Given the description of an element on the screen output the (x, y) to click on. 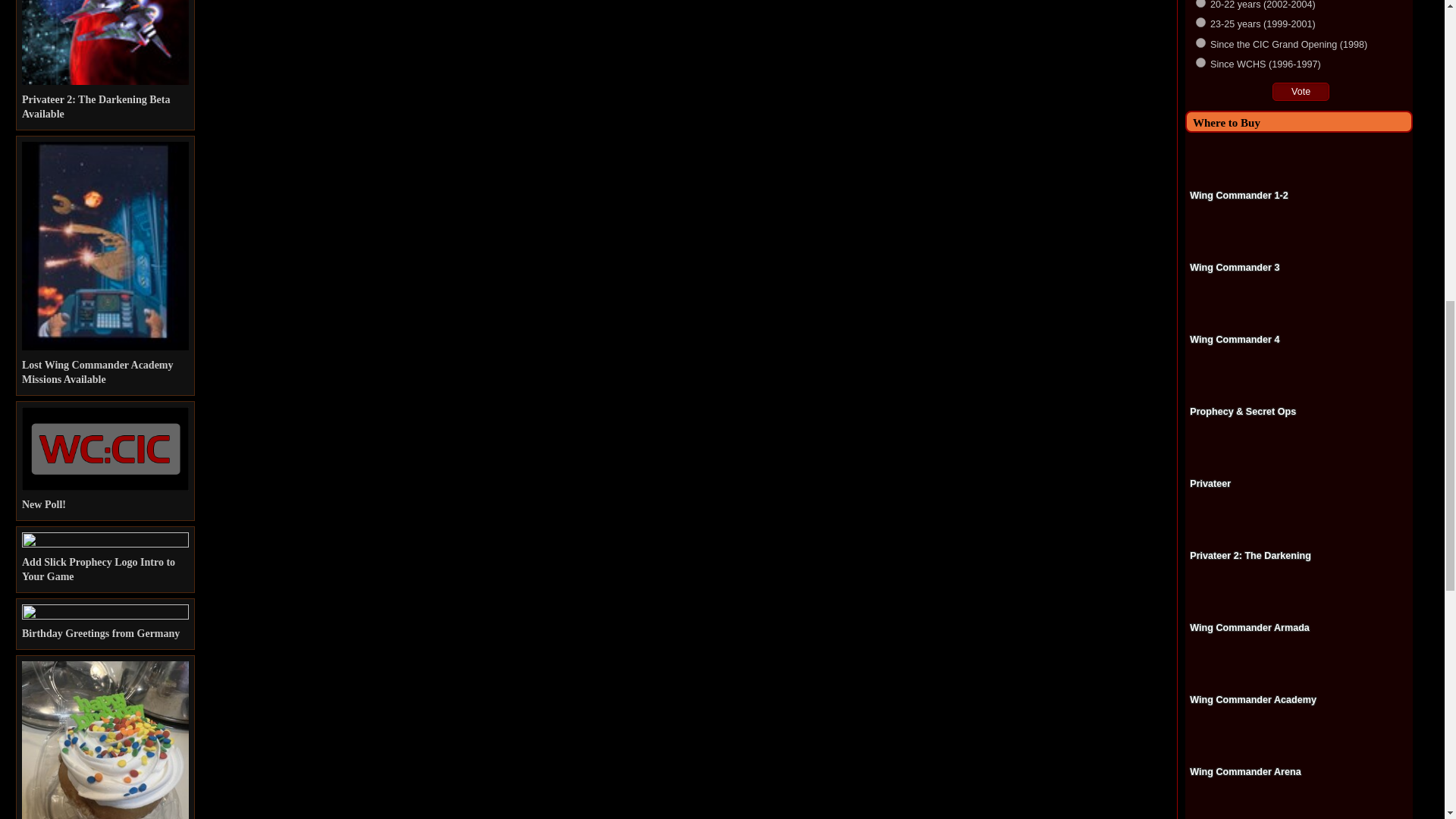
9 (1200, 42)
8 (1200, 22)
10 (1200, 62)
Vote (1300, 91)
7 (1200, 3)
